Given the description of an element on the screen output the (x, y) to click on. 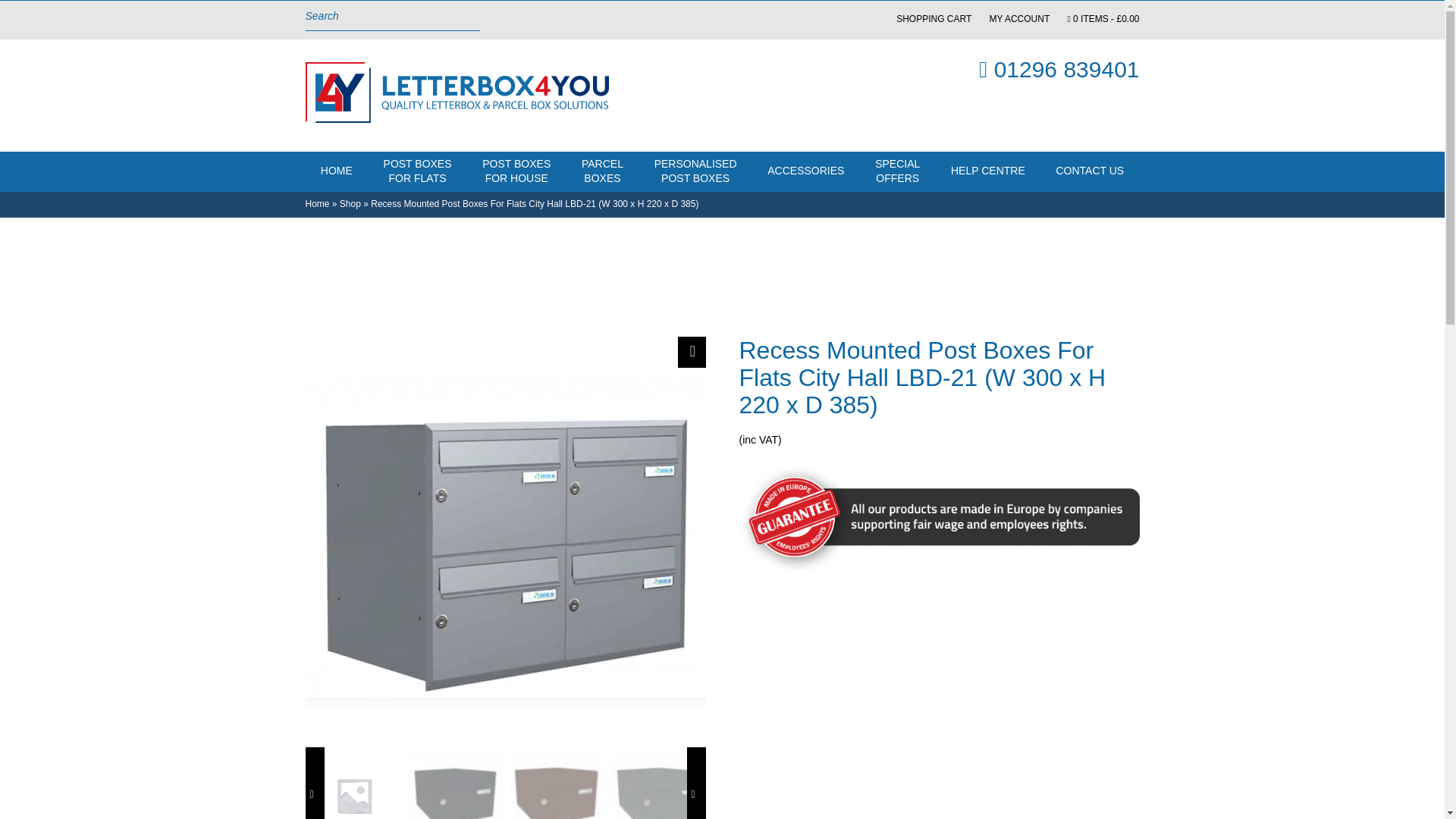
Home (316, 204)
Shop (516, 171)
CONTACT US (350, 204)
View your shopping cart (1089, 171)
MY ACCOUNT (898, 171)
ACCESSORIES (1102, 18)
HOME (1018, 18)
01296 839401 (417, 171)
SHOPPING CART (806, 171)
HELP CENTRE (695, 171)
